Given the description of an element on the screen output the (x, y) to click on. 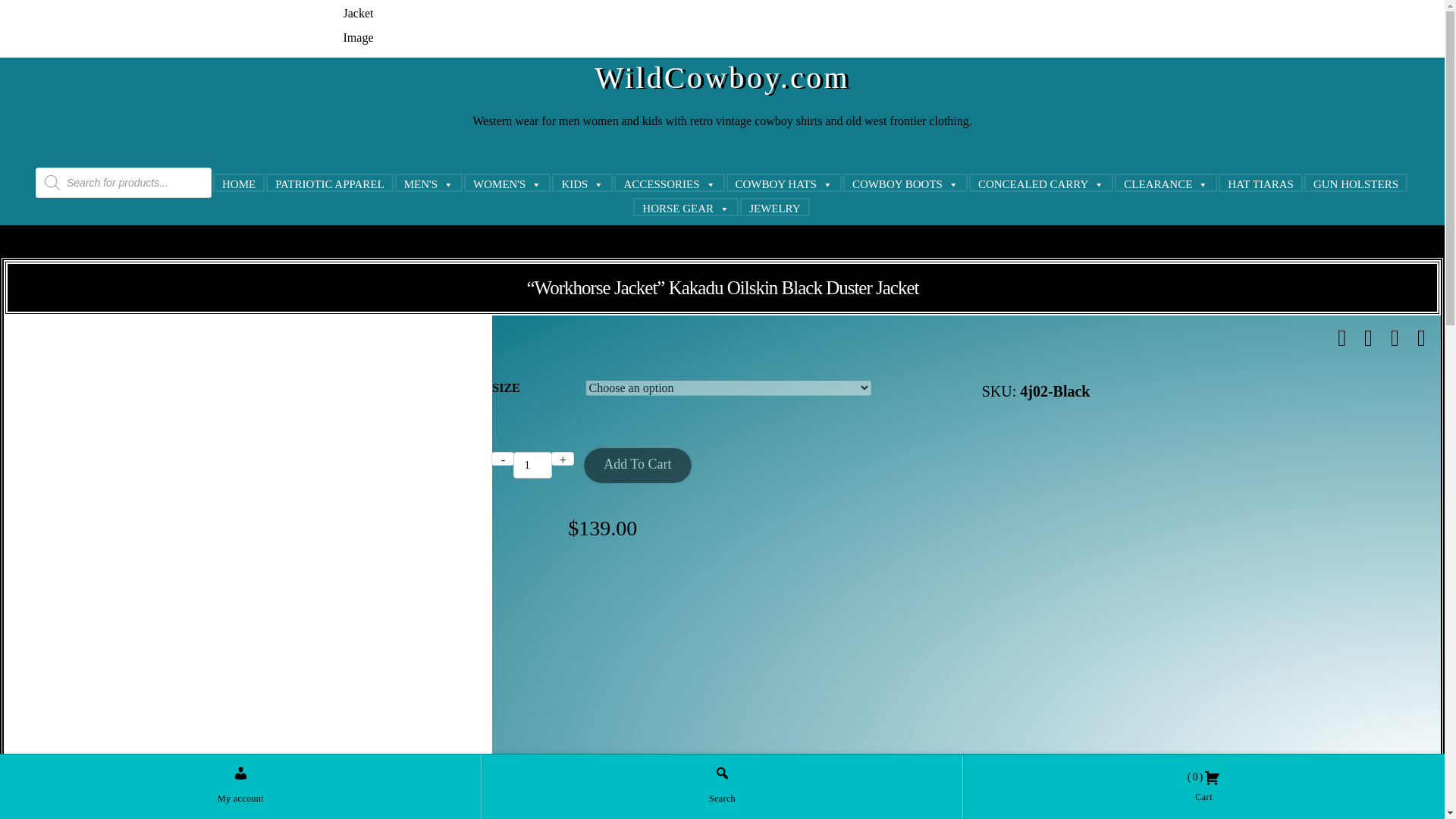
WOMEN'S (507, 182)
1 (532, 465)
PATRIOTIC APPAREL (329, 182)
HOME (238, 182)
MEN'S (428, 182)
